Given the description of an element on the screen output the (x, y) to click on. 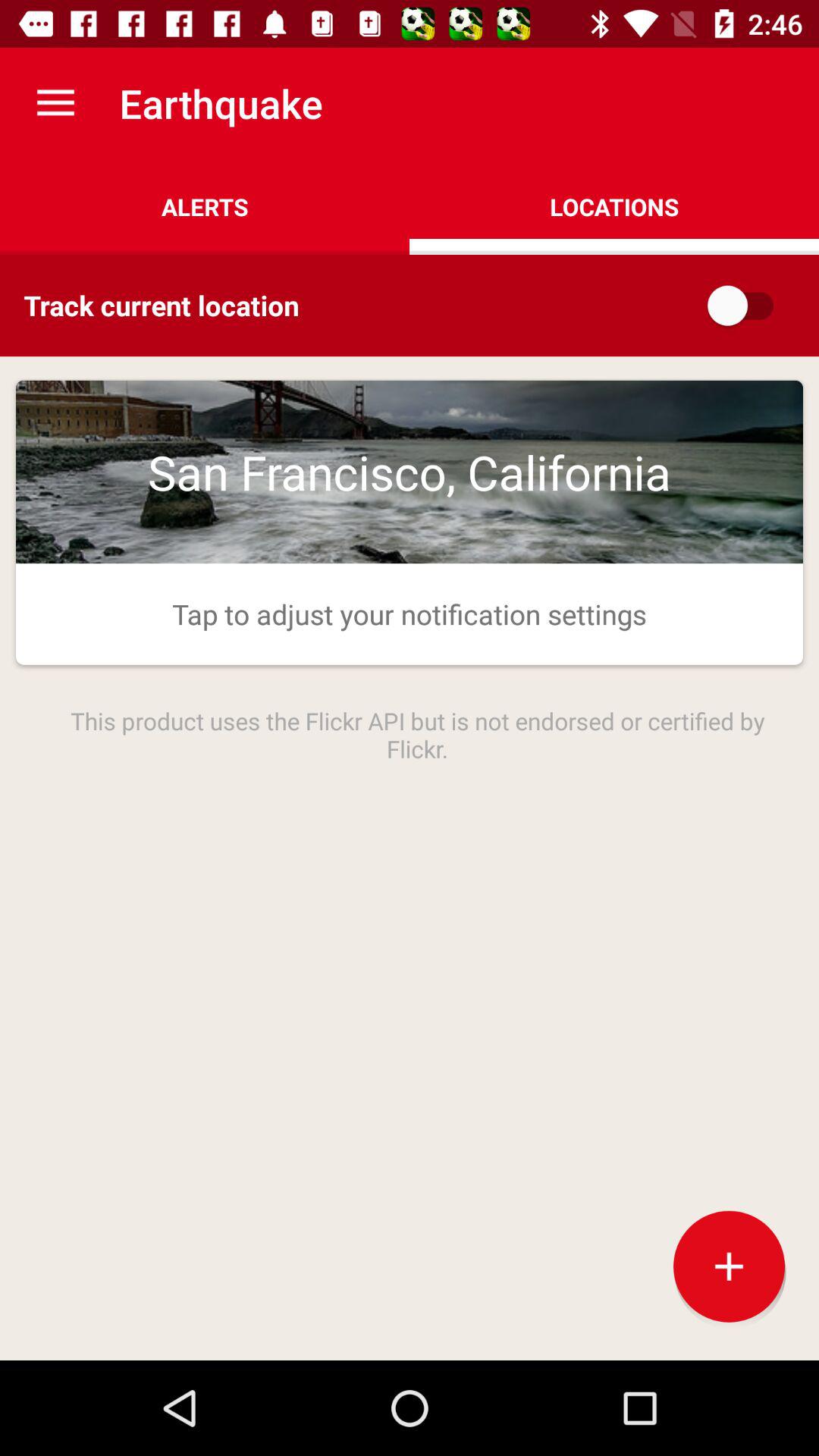
jump to the locations icon (614, 206)
